Given the description of an element on the screen output the (x, y) to click on. 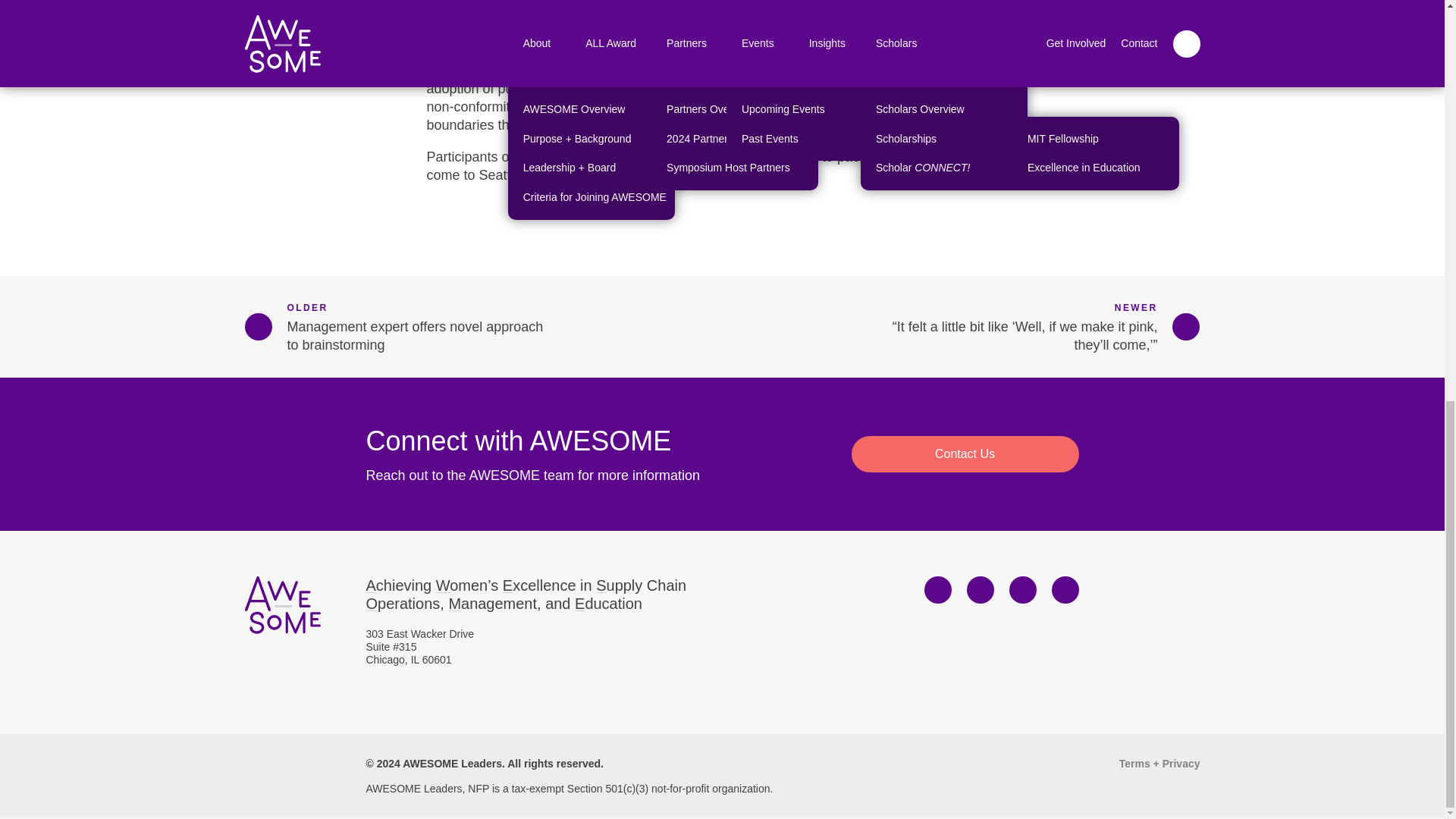
AWESOME Leaders (282, 604)
inc.com (529, 52)
Contact Us (964, 453)
